Given the description of an element on the screen output the (x, y) to click on. 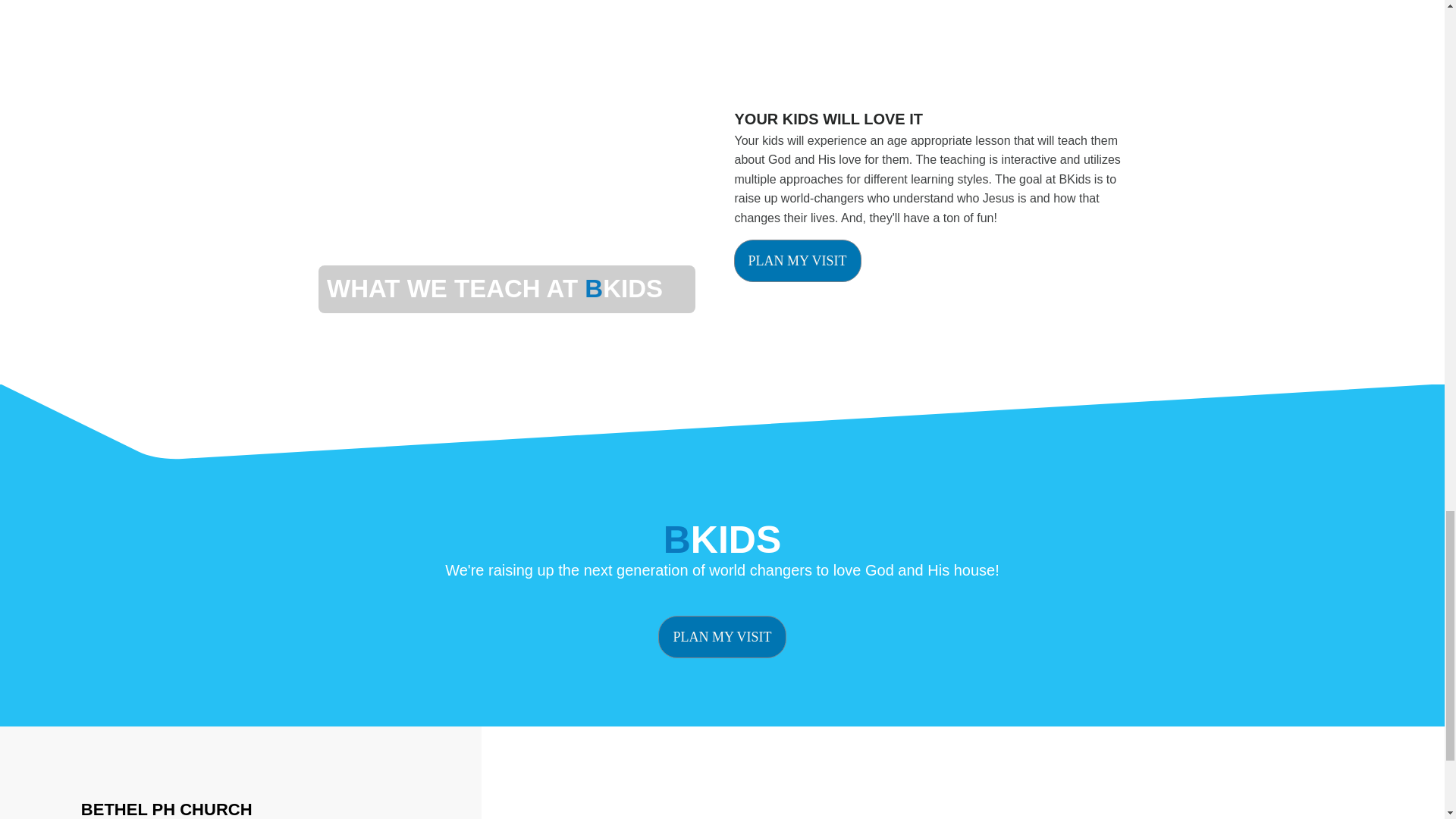
PLAN MY VISIT (722, 636)
PLAN MY VISIT (797, 260)
